Given the description of an element on the screen output the (x, y) to click on. 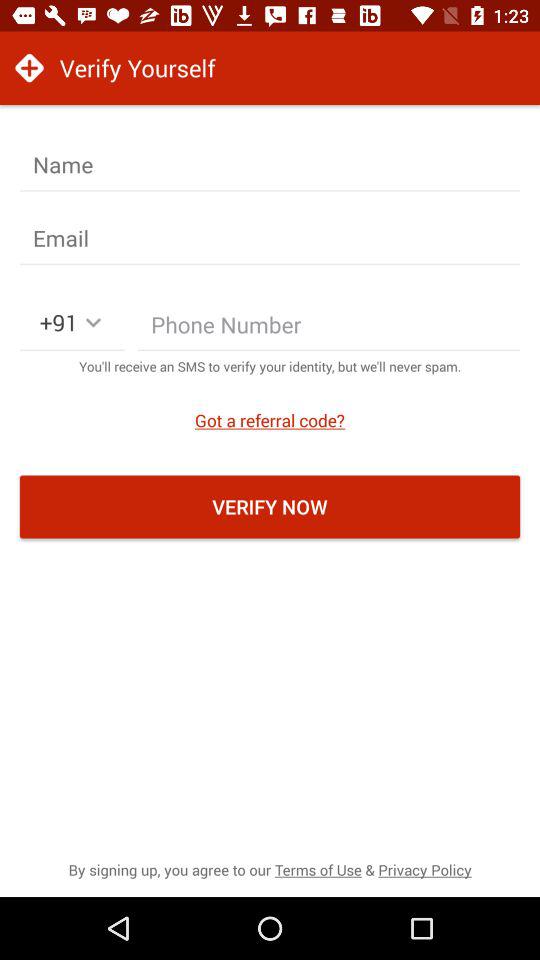
select the item below you ll receive item (269, 419)
